Given the description of an element on the screen output the (x, y) to click on. 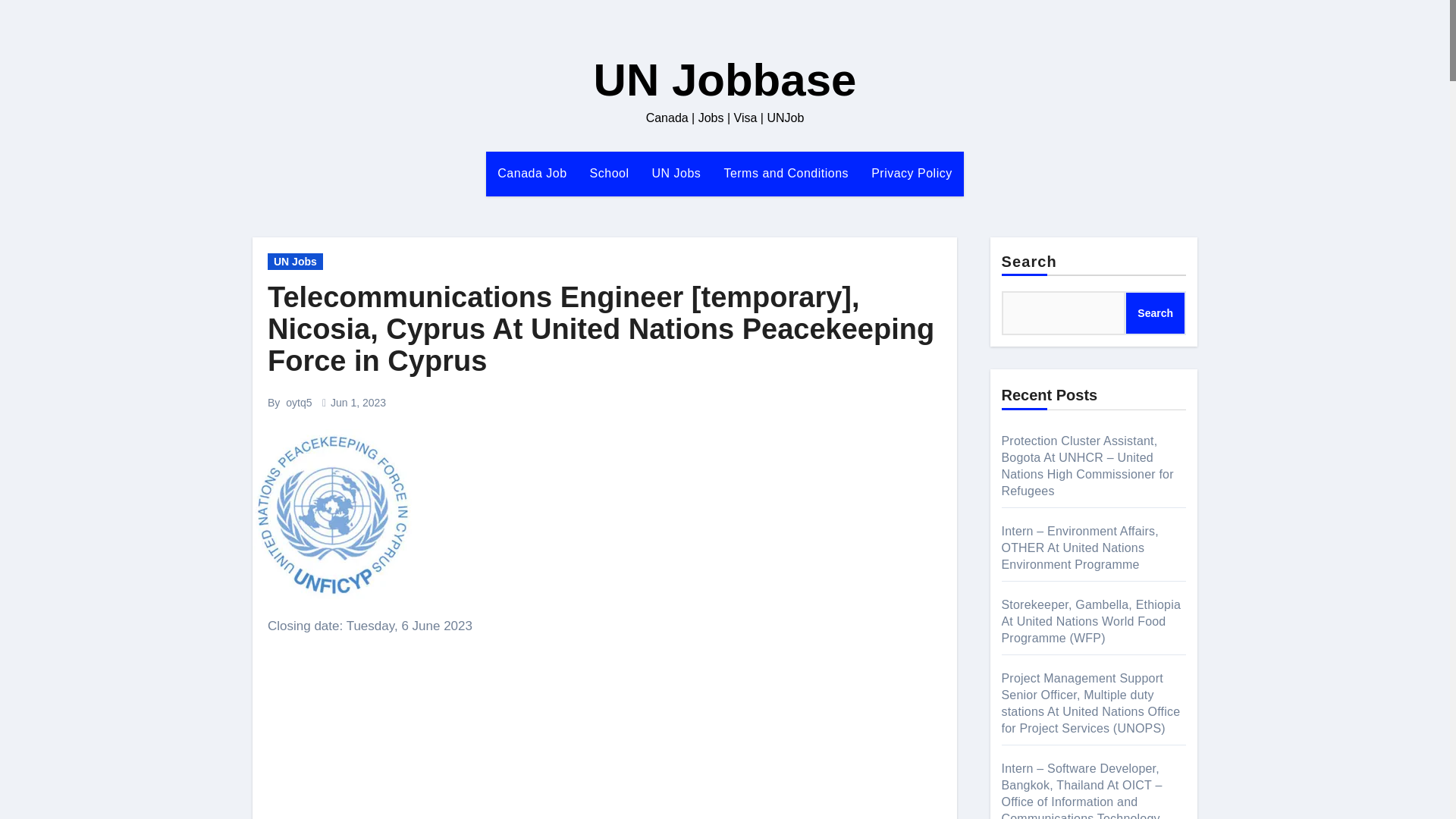
UN Jobs (295, 261)
Canada Job (532, 173)
UN Jobs (676, 173)
oytq5 (298, 402)
Terms and Conditions (785, 173)
School (609, 173)
Privacy Policy (911, 173)
Terms and Conditions (785, 173)
School (609, 173)
UN Jobbase (725, 79)
